Given the description of an element on the screen output the (x, y) to click on. 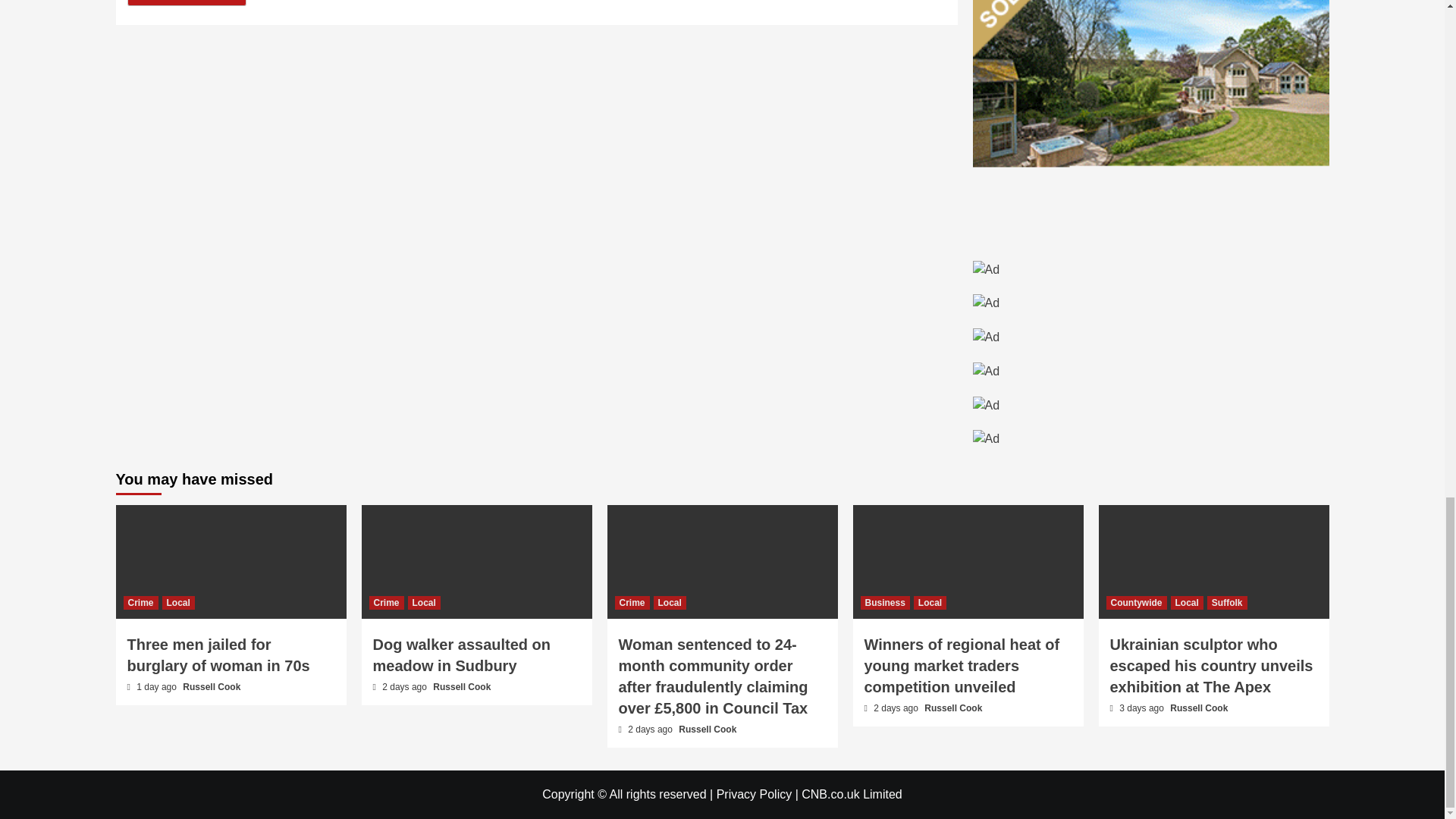
Local (178, 602)
Crime (139, 602)
Post Comment (187, 2)
Post Comment (187, 2)
